Given the description of an element on the screen output the (x, y) to click on. 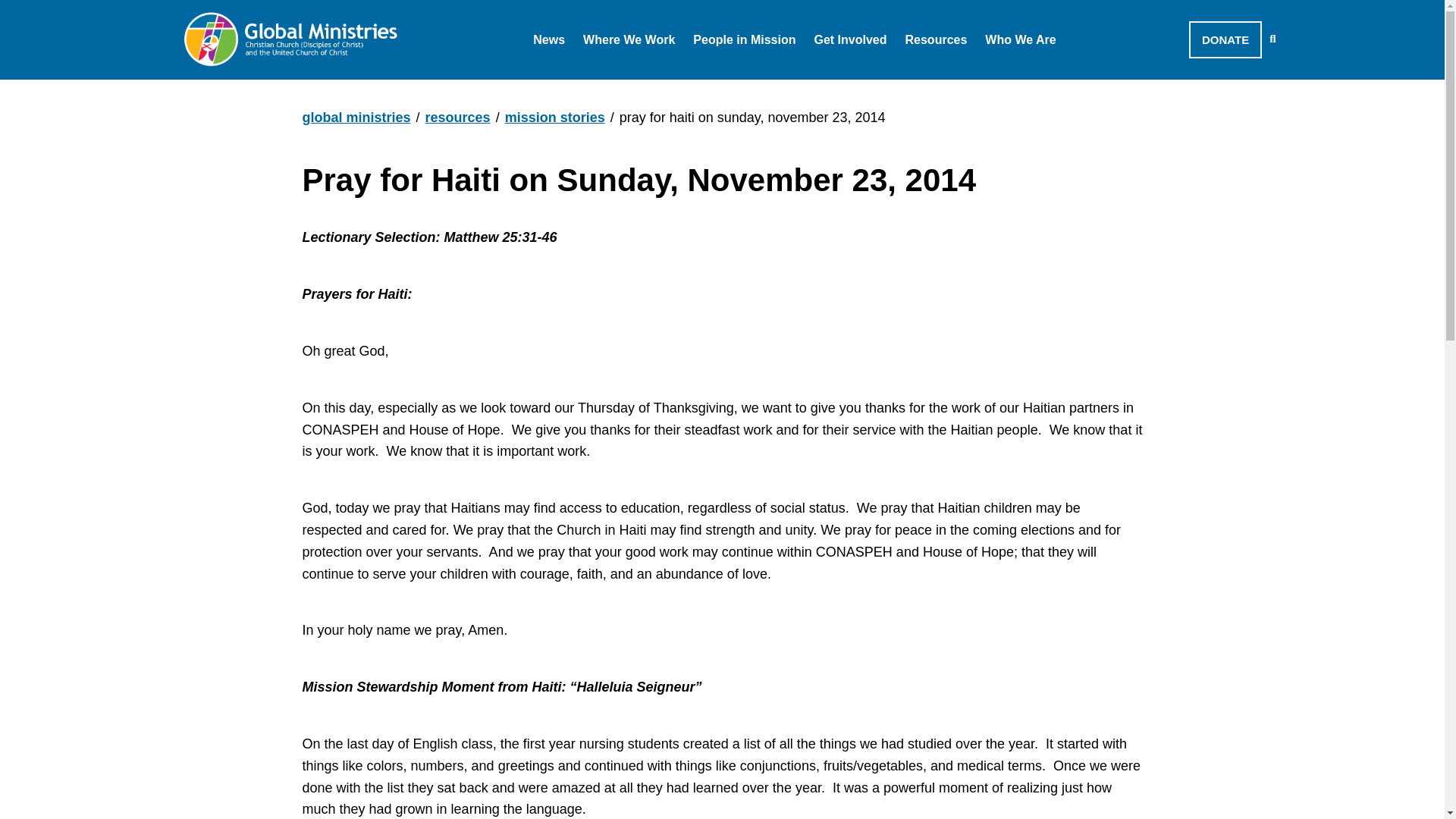
Go to Resources. (457, 117)
News (565, 79)
News (548, 40)
Africa (617, 79)
Middle East and Europe (675, 79)
Global Ministries Virtual Events (650, 79)
Get Involved (849, 40)
Child and Elder Sponsorship (922, 79)
Associates (743, 79)
Short-term Volunteers (779, 79)
East Asia and the Pacific (678, 79)
Mission Co-Workers (773, 79)
Justice and Advocacy (899, 79)
Go to Global Ministries. (355, 117)
Search (1272, 38)
